Given the description of an element on the screen output the (x, y) to click on. 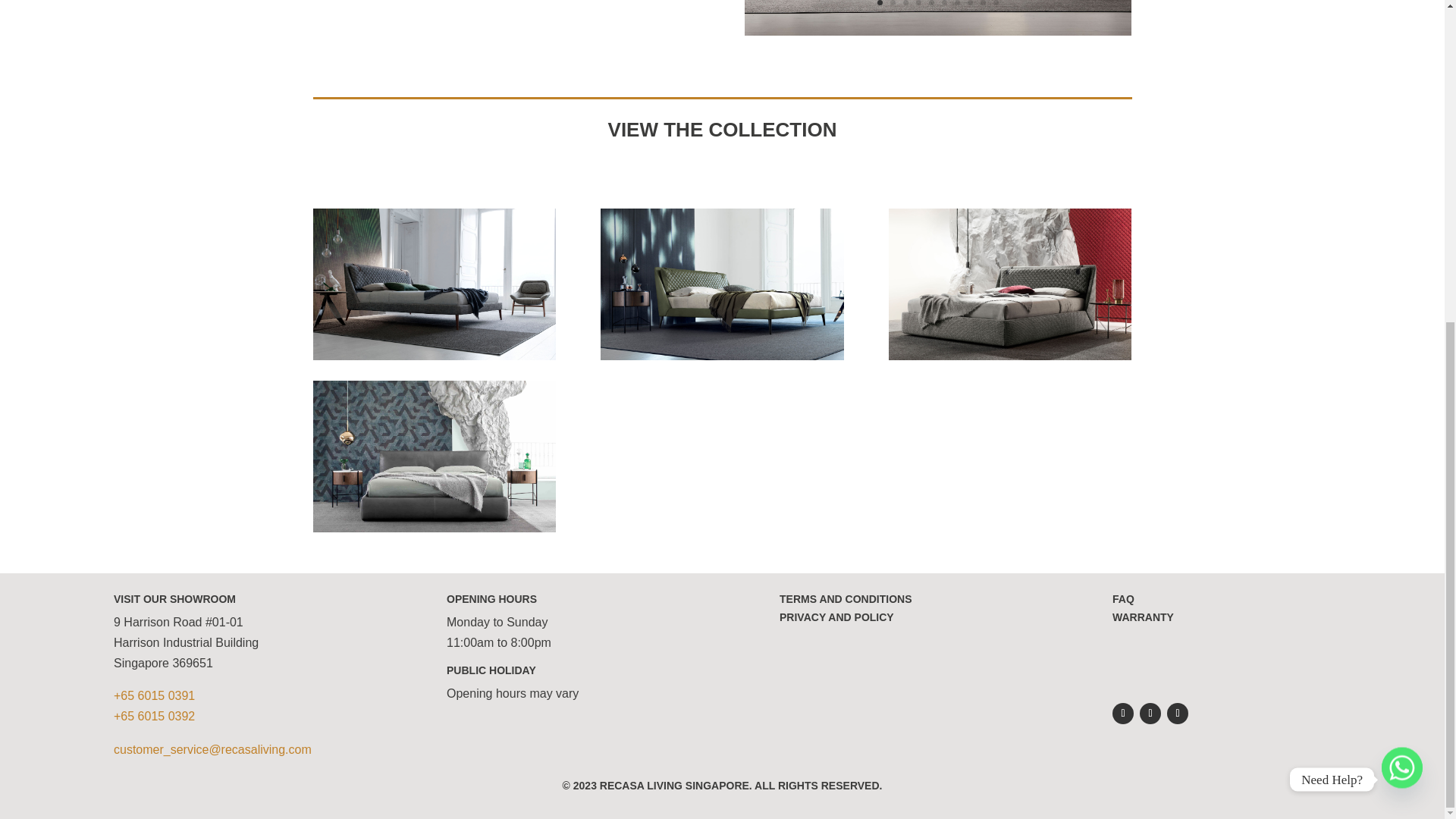
PRIVACY AND POLICY (835, 616)
Follow on Instagram (1150, 712)
Follow on LinkedIn (1177, 712)
WARRANTY (1142, 616)
FAQ (1123, 598)
